Given the description of an element on the screen output the (x, y) to click on. 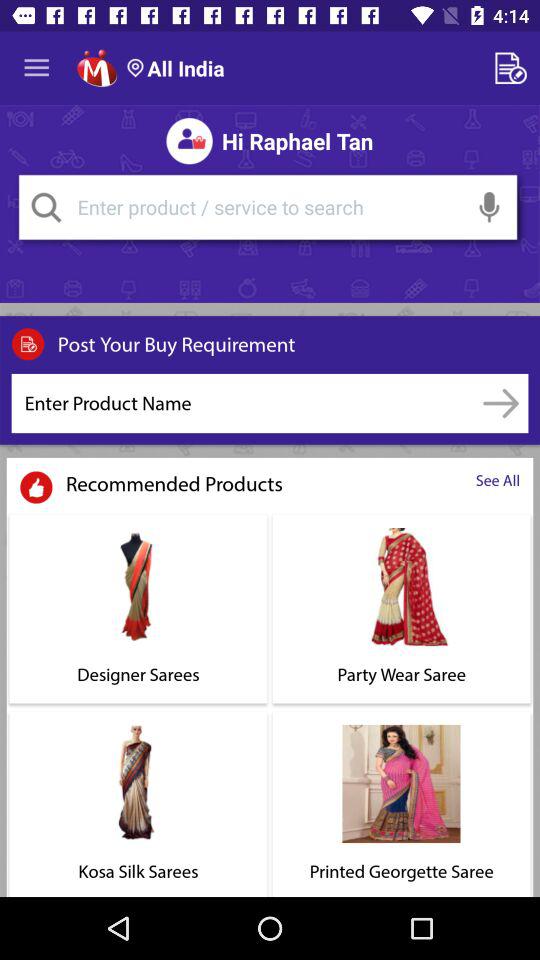
tag the search bar (45, 207)
